Given the description of an element on the screen output the (x, y) to click on. 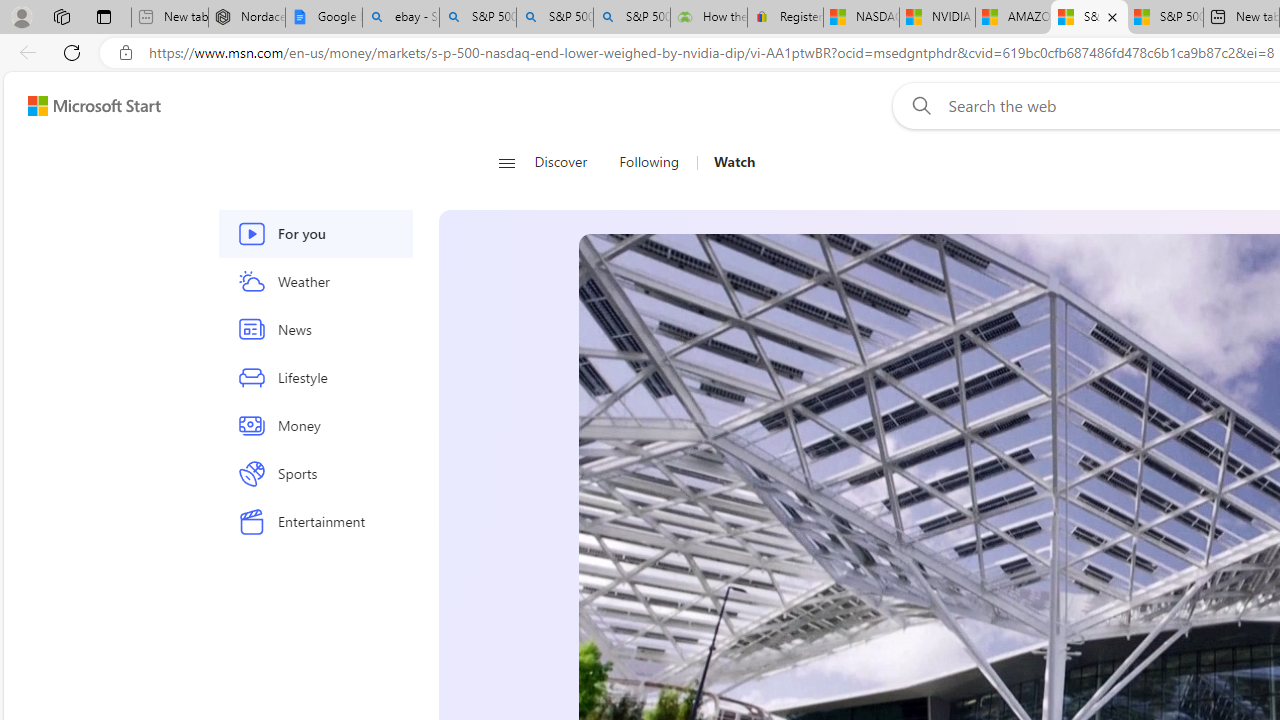
Register: Create a personal eBay account (785, 17)
S&P 500 - Search (554, 17)
Web search (917, 105)
How the S&P 500 Performed During Major Market Crashes (708, 17)
